Given the description of an element on the screen output the (x, y) to click on. 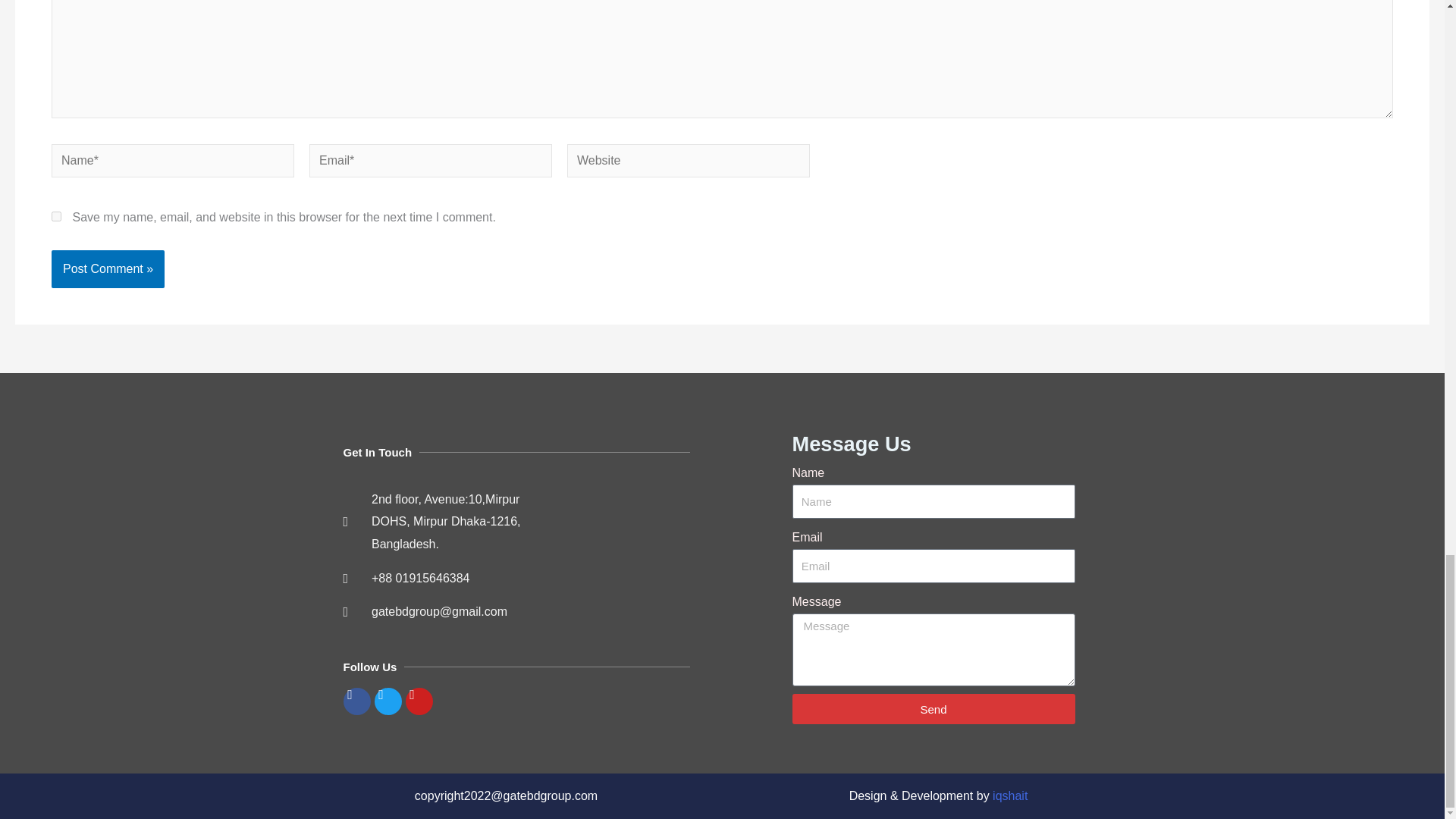
yes (55, 216)
Send (933, 708)
iqshait (1009, 795)
